Given the description of an element on the screen output the (x, y) to click on. 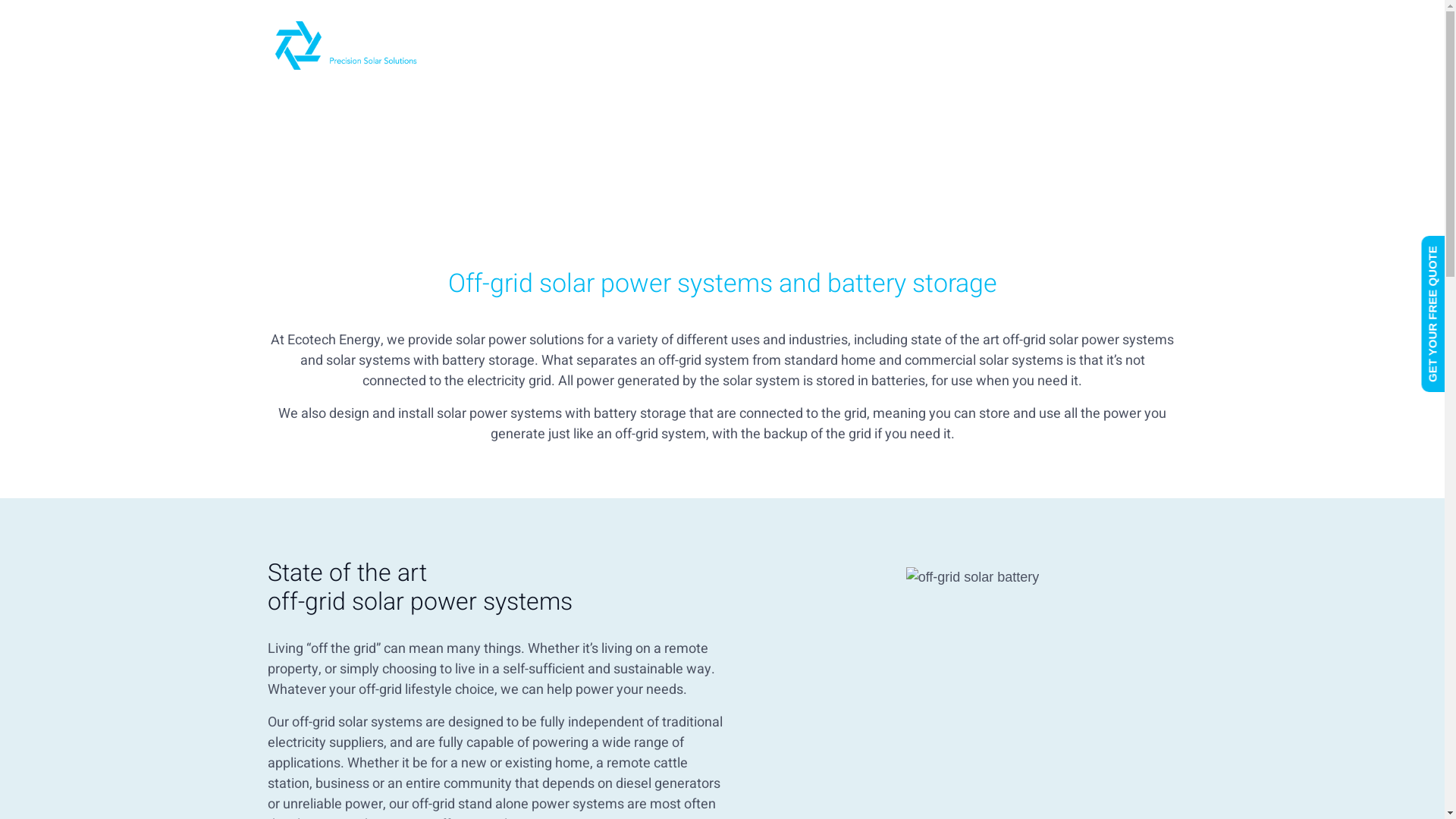
Solar Batteries Element type: text (952, 45)
Agriculture Element type: text (709, 45)
News Element type: text (1051, 45)
Contact Element type: text (1130, 45)
Residential Element type: text (603, 45)
Solar Pumping Element type: text (824, 45)
Commercial Element type: text (495, 45)
